Given the description of an element on the screen output the (x, y) to click on. 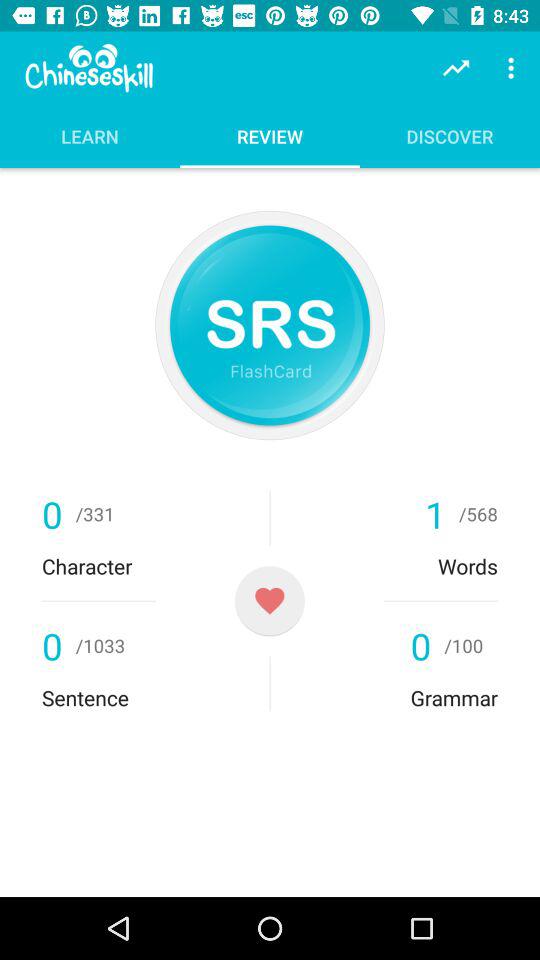
click the item above the discover icon (455, 67)
